Given the description of an element on the screen output the (x, y) to click on. 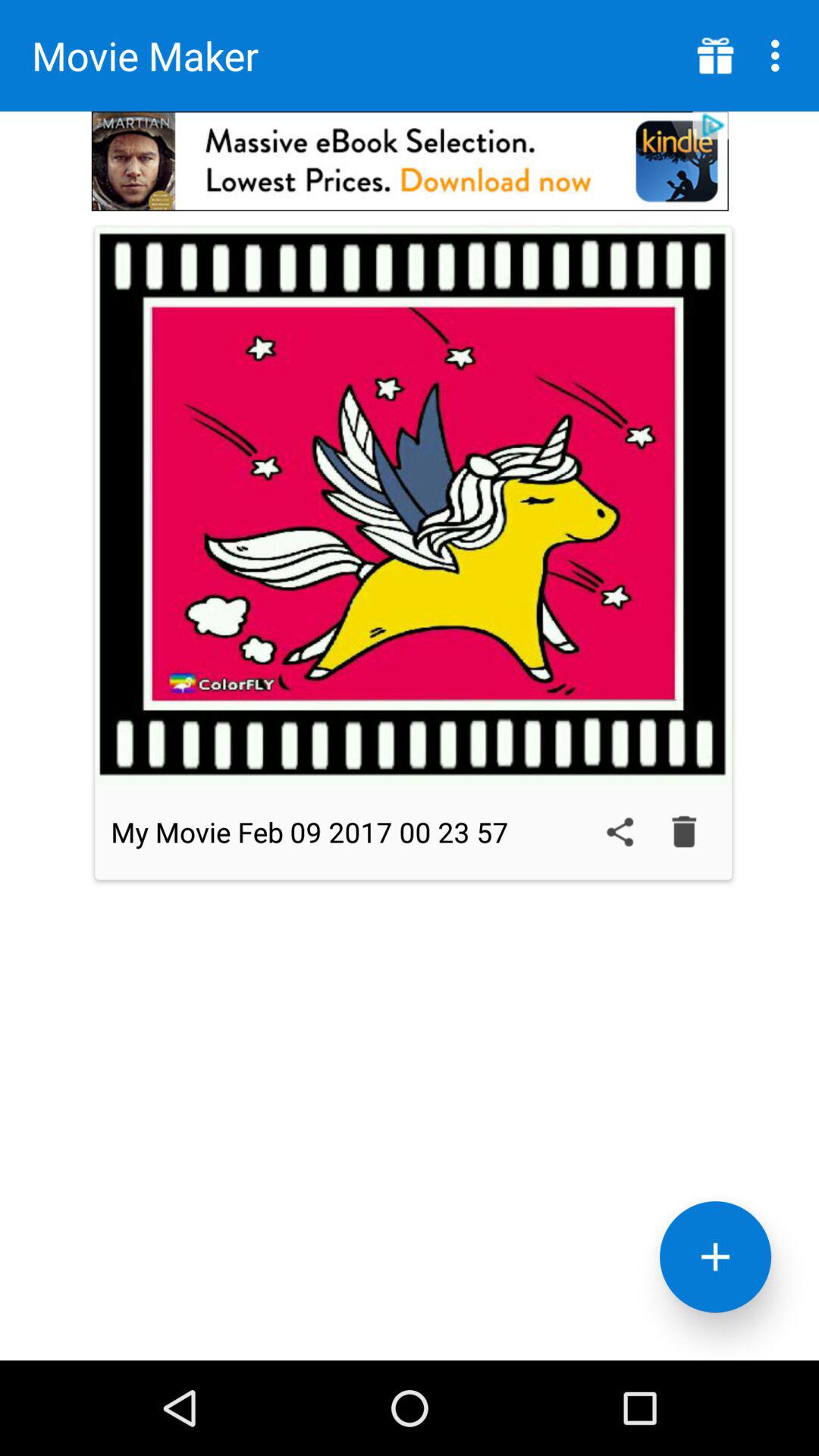
play video (412, 505)
